Given the description of an element on the screen output the (x, y) to click on. 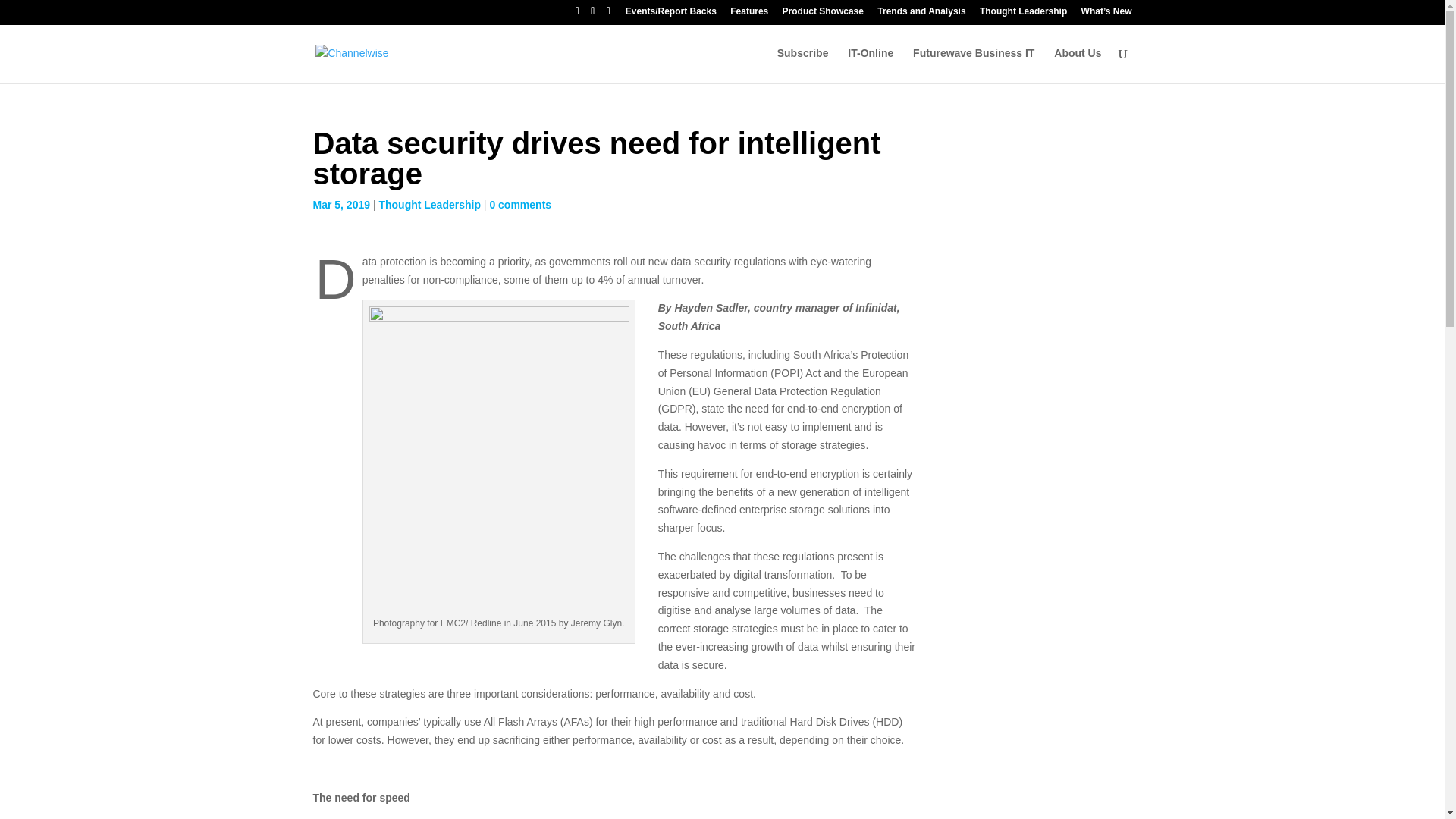
0 comments (520, 204)
Features (749, 14)
Futurewave Business IT (972, 65)
About Us (1077, 65)
Product Showcase (823, 14)
Thought Leadership (1023, 14)
IT-Online (870, 65)
Thought Leadership (429, 204)
Subscribe (802, 65)
Trends and Analysis (921, 14)
